Given the description of an element on the screen output the (x, y) to click on. 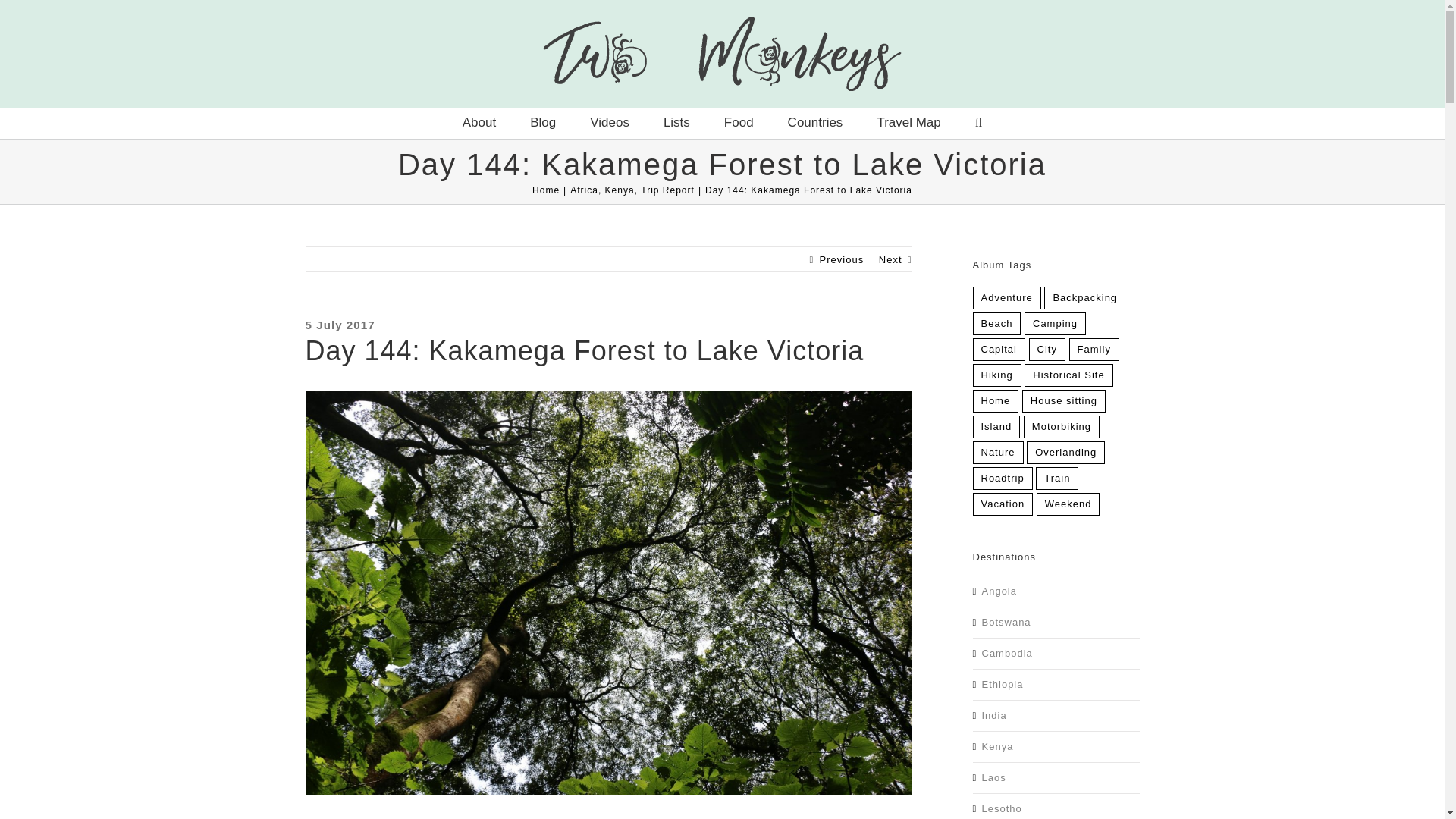
About (479, 122)
Countries (815, 122)
Food (738, 122)
Videos (608, 122)
